Given the description of an element on the screen output the (x, y) to click on. 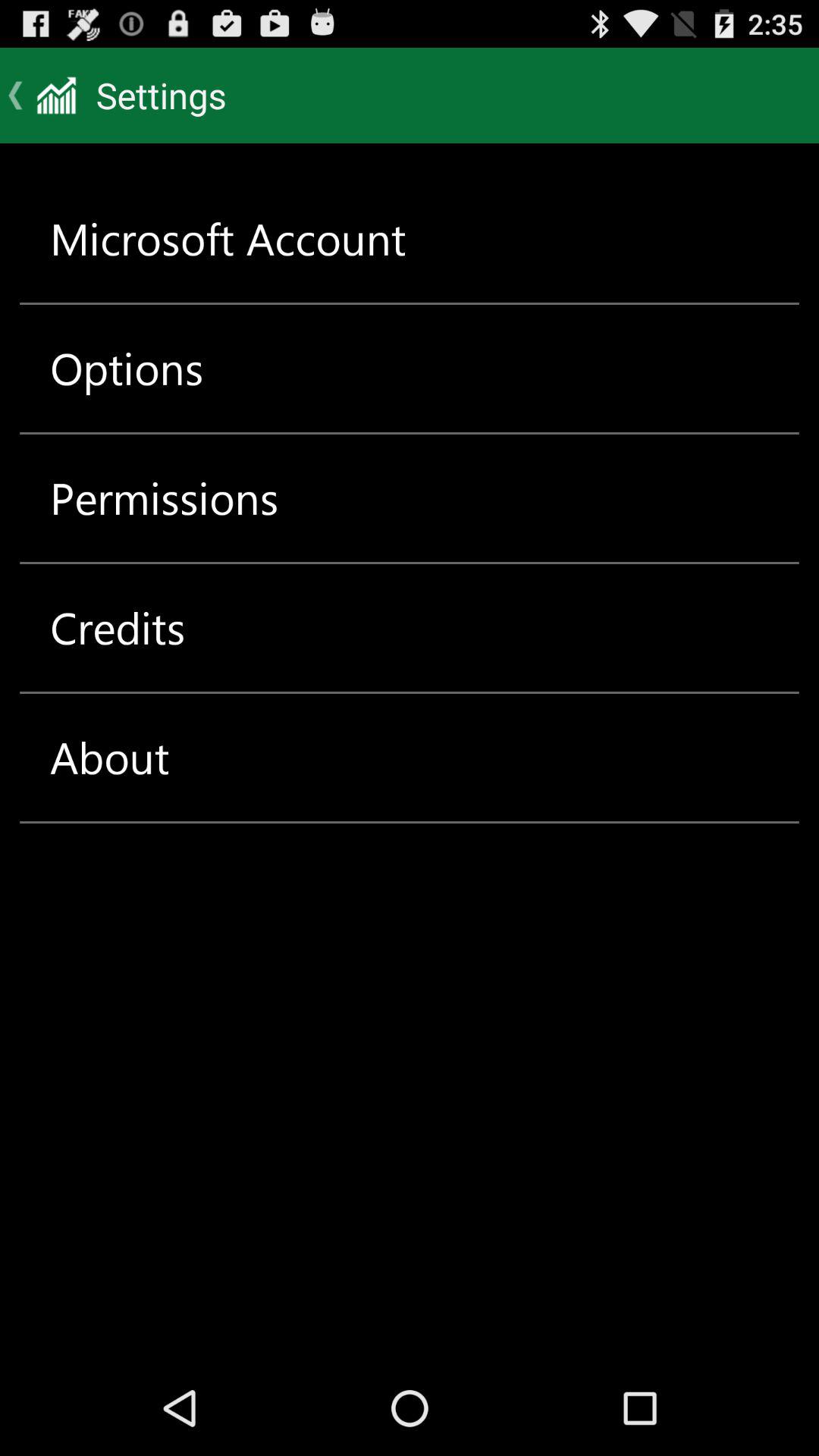
select item below the permissions item (117, 627)
